Given the description of an element on the screen output the (x, y) to click on. 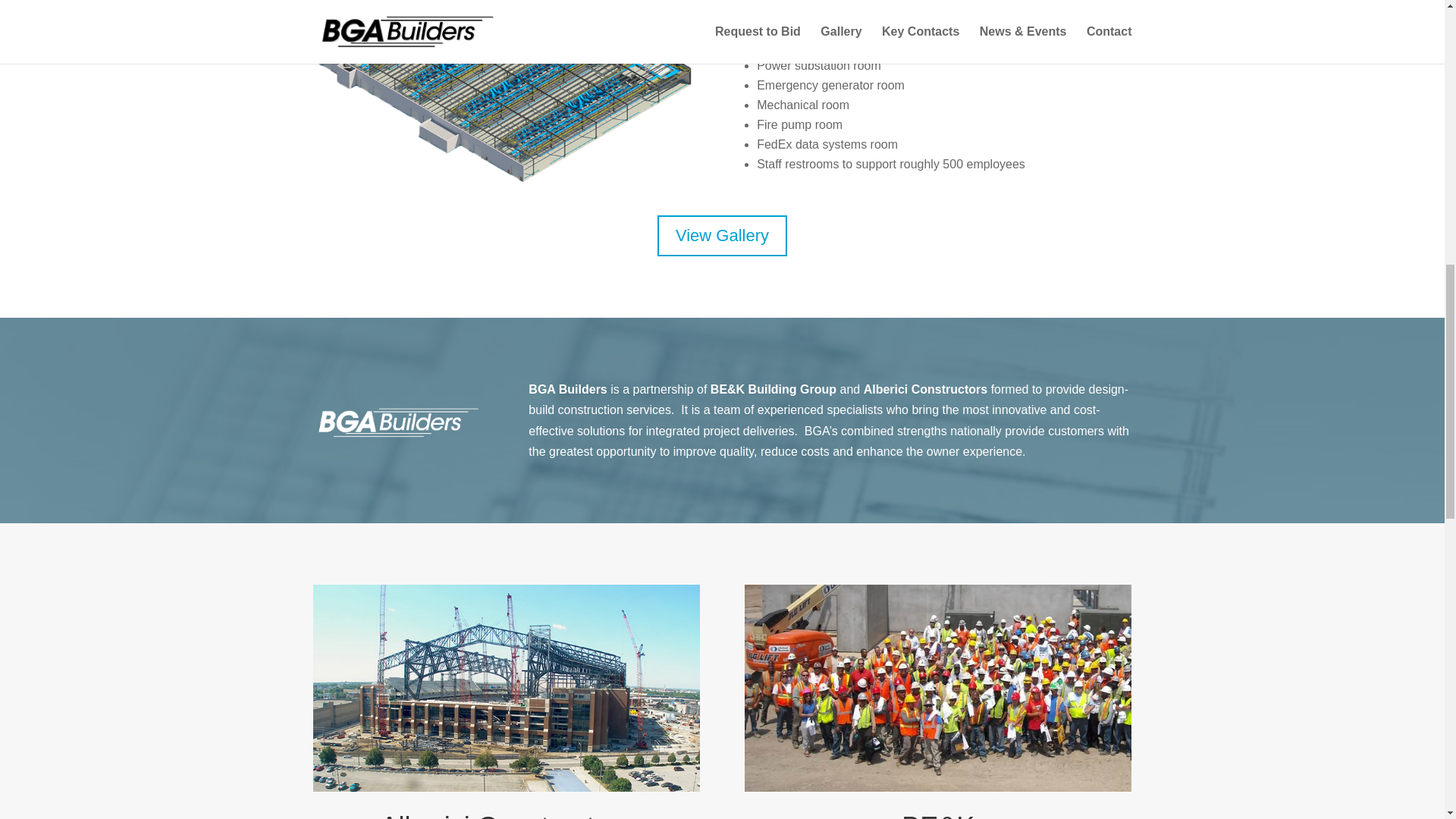
View Gallery (722, 236)
